Given the description of an element on the screen output the (x, y) to click on. 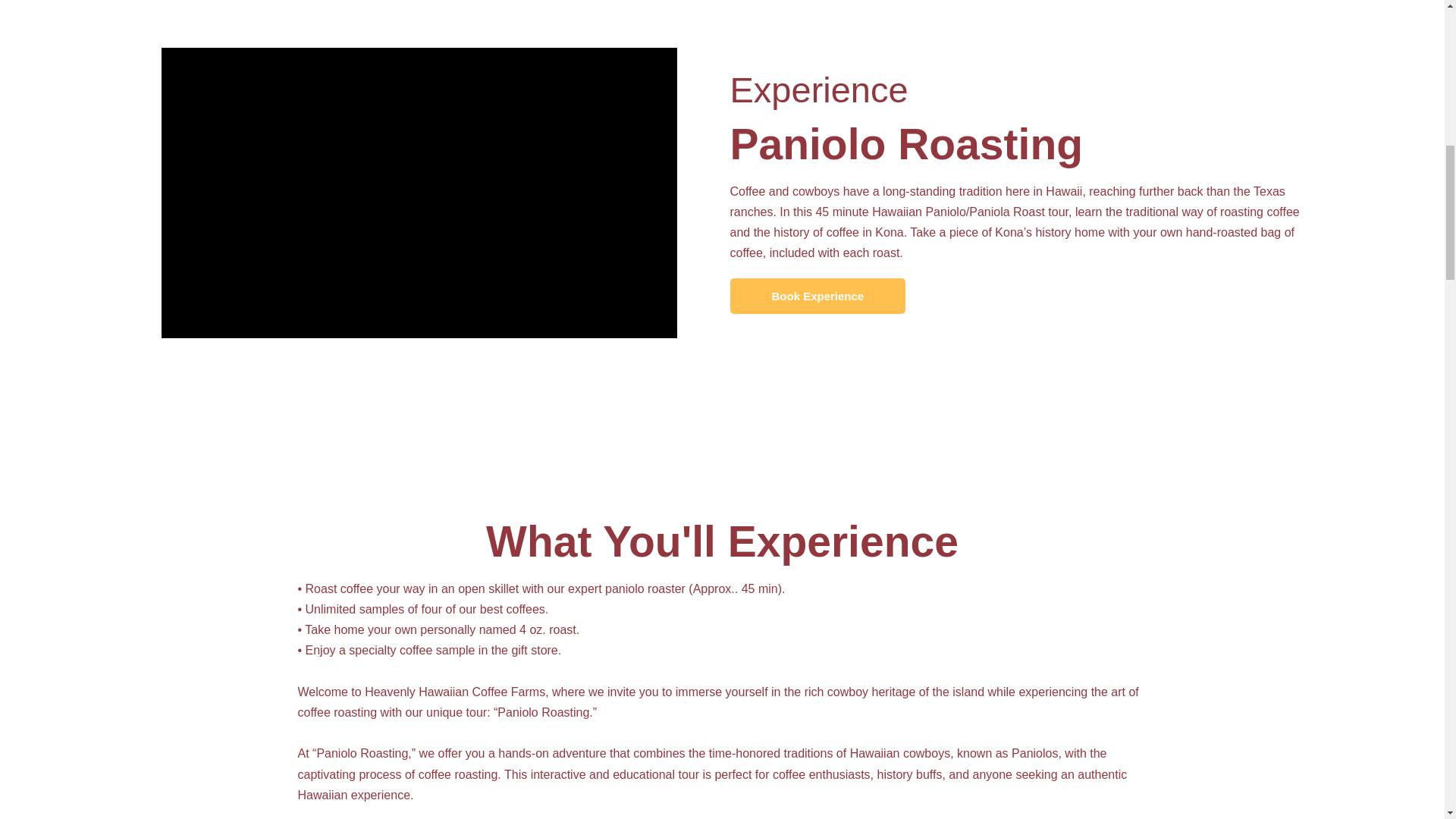
Book Experience (817, 295)
FareHarbor (1342, 64)
